Given the description of an element on the screen output the (x, y) to click on. 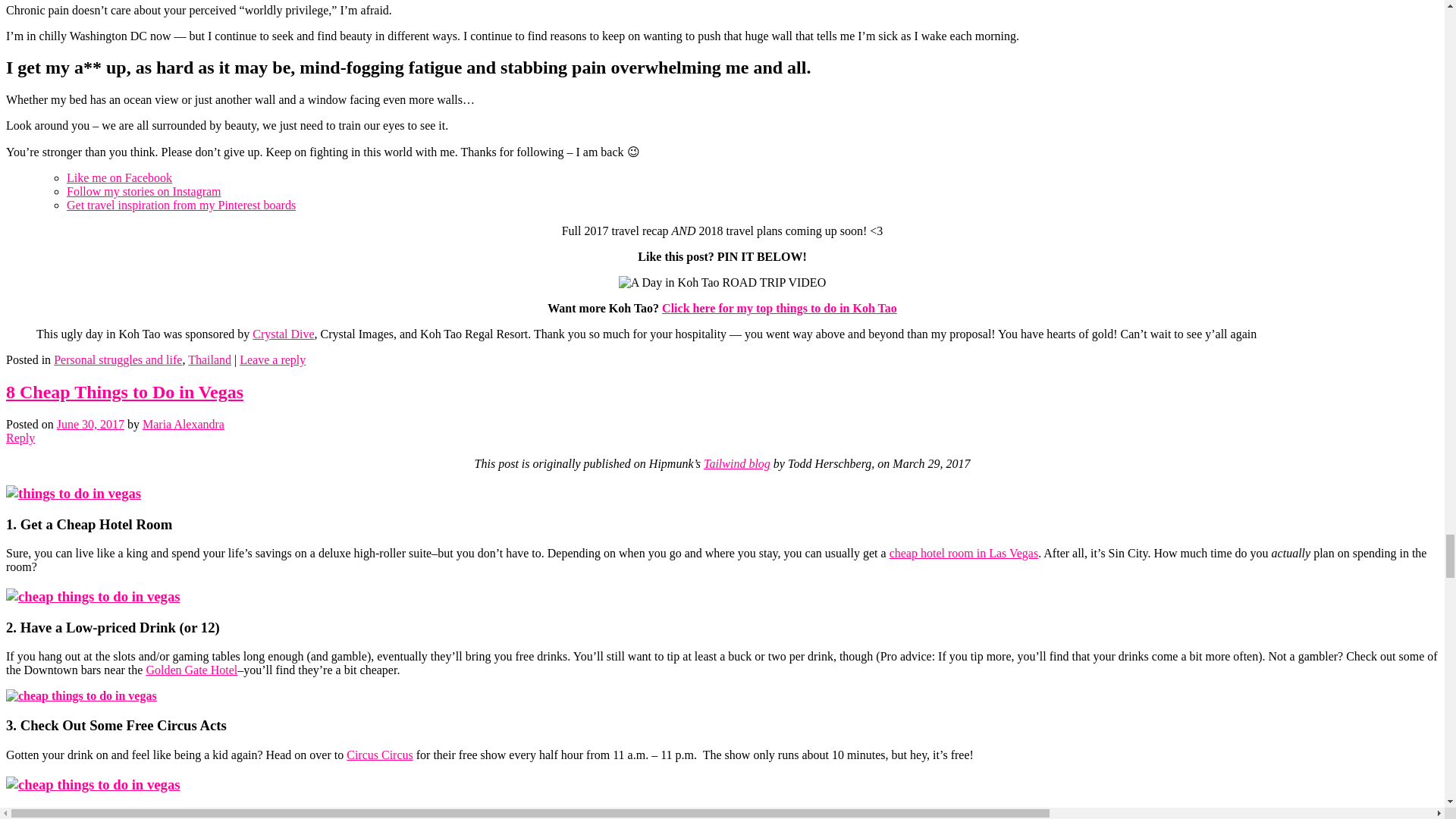
10:12 PM (89, 423)
View all posts by Maria Alexandra (183, 423)
